Given the description of an element on the screen output the (x, y) to click on. 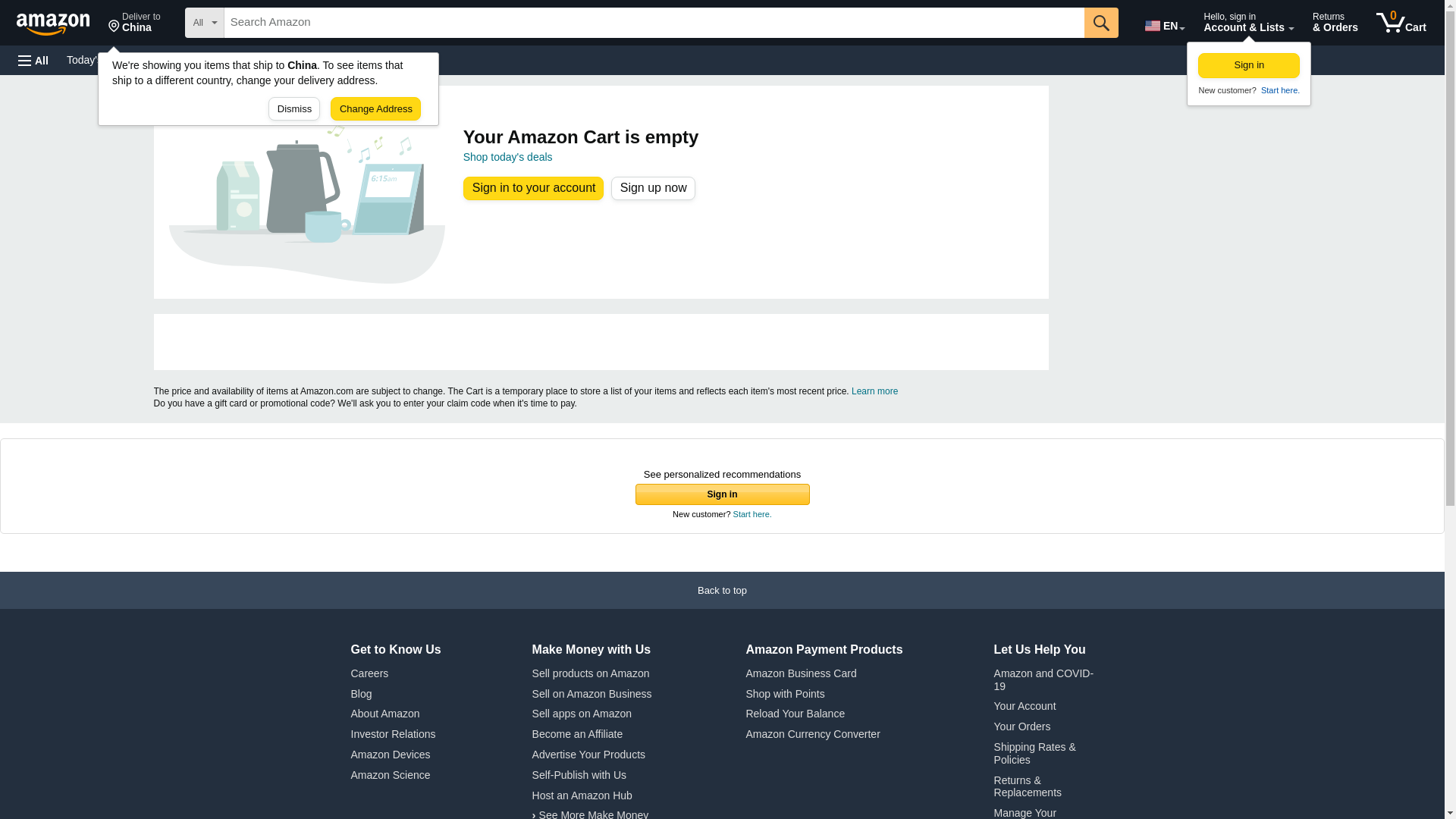
Gift Cards (333, 59)
Go (1101, 22)
Sign in (1249, 65)
Shop today's deals (508, 156)
Skip to main content (60, 21)
Sell (384, 59)
Start here. (1401, 22)
EN (1279, 90)
Sign up now (1163, 22)
Customer Service (134, 22)
All (652, 188)
Sign in to your account (192, 59)
